Given the description of an element on the screen output the (x, y) to click on. 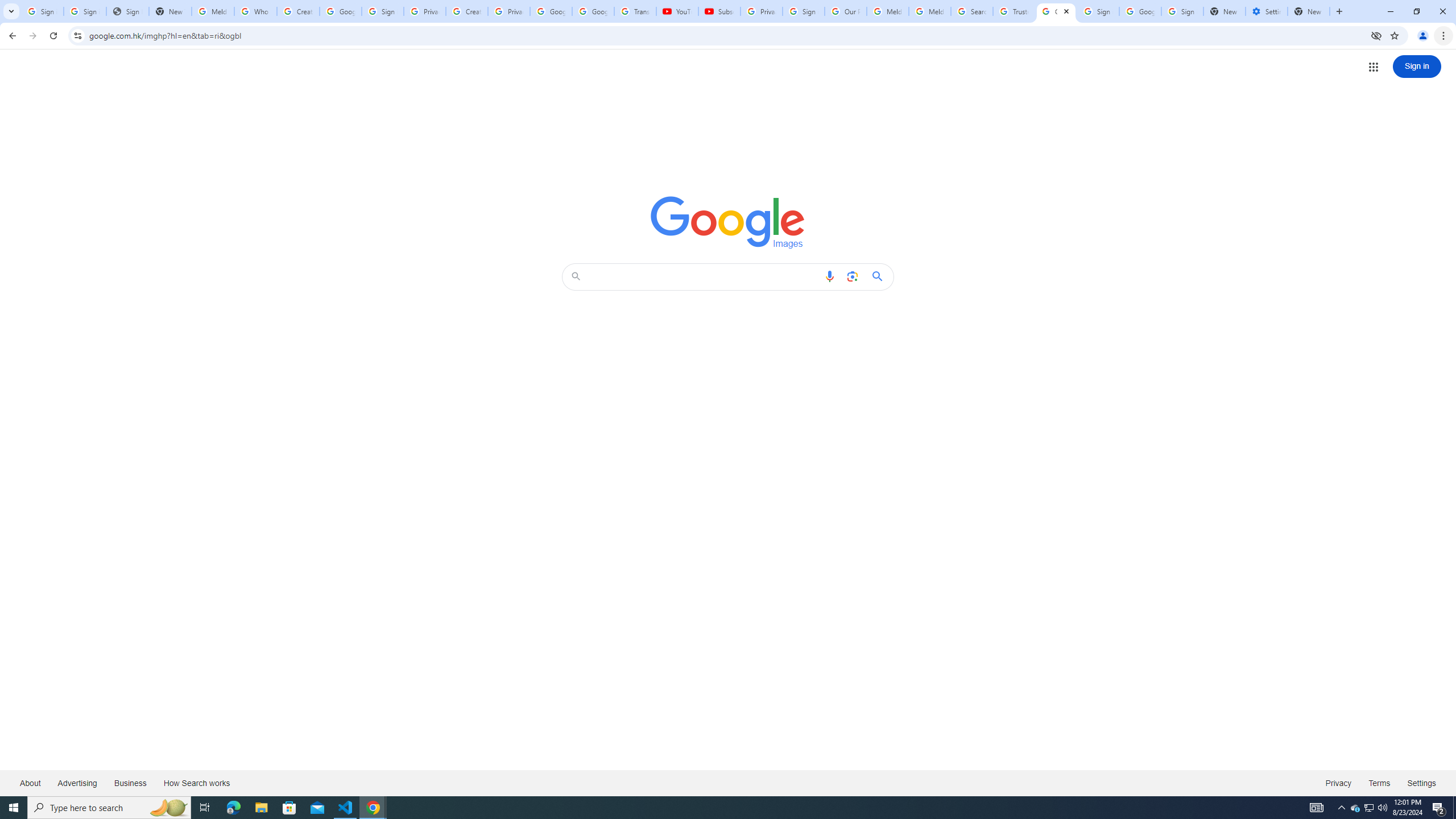
Minimize (1390, 11)
You (1422, 35)
Sign in - Google Accounts (1182, 11)
Create your Google Account (298, 11)
Trusted Information and Content - Google Safety Center (1013, 11)
Search (703, 276)
New Tab (1338, 11)
Search tabs (10, 11)
Sign in - Google Accounts (382, 11)
Sign in (1417, 65)
Google Search (880, 276)
Business (129, 782)
Address and search bar (726, 35)
